Given the description of an element on the screen output the (x, y) to click on. 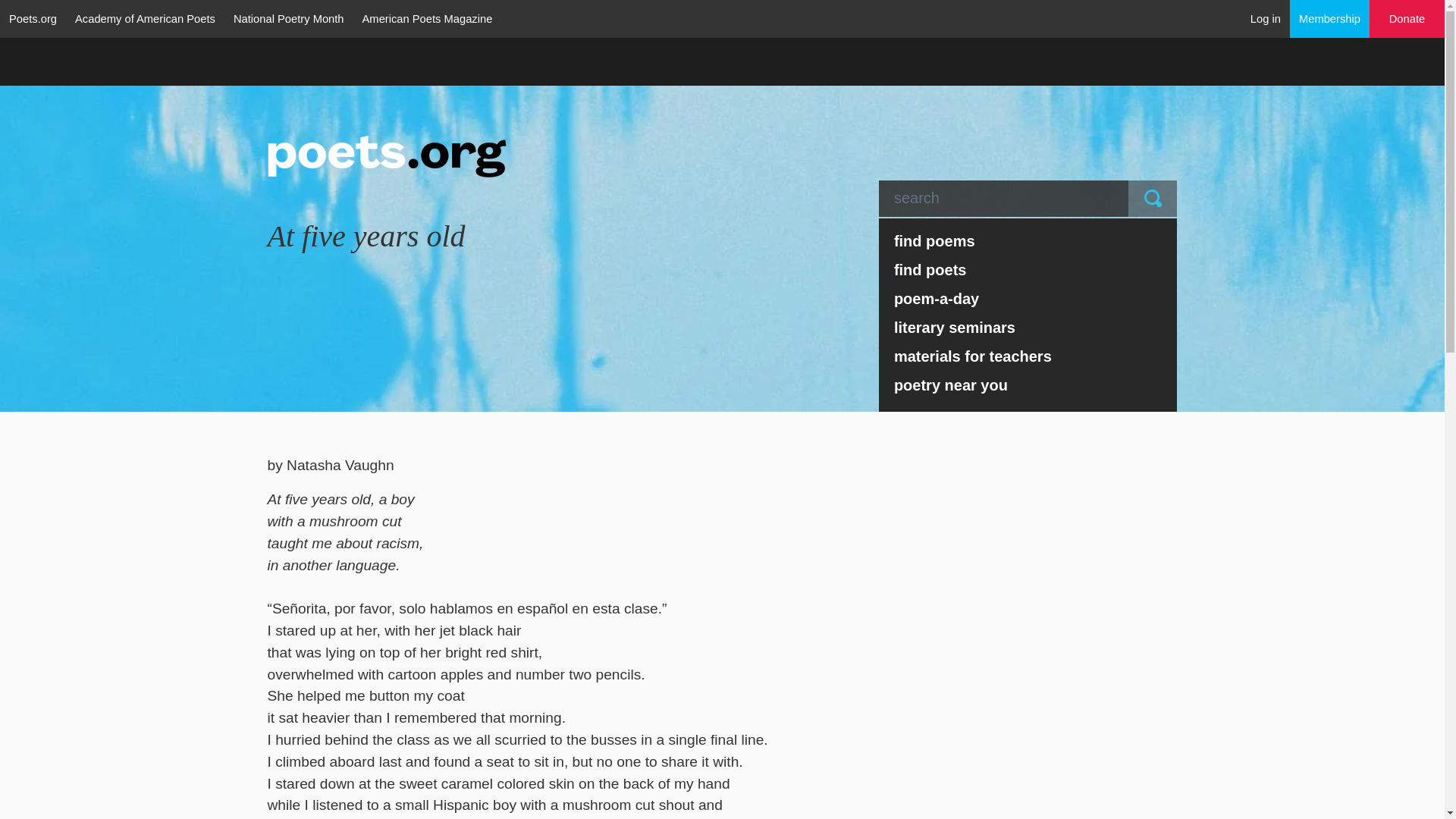
American Poets Magazine (427, 18)
Membership (1330, 18)
find poems (1028, 240)
materials for teachers (1028, 356)
Become a member of the Academy of American Poets (1330, 18)
Submit (1152, 198)
National Poetry Month (288, 18)
Log in (1265, 18)
literary seminars (1028, 327)
poetry near you (1028, 385)
